Given the description of an element on the screen output the (x, y) to click on. 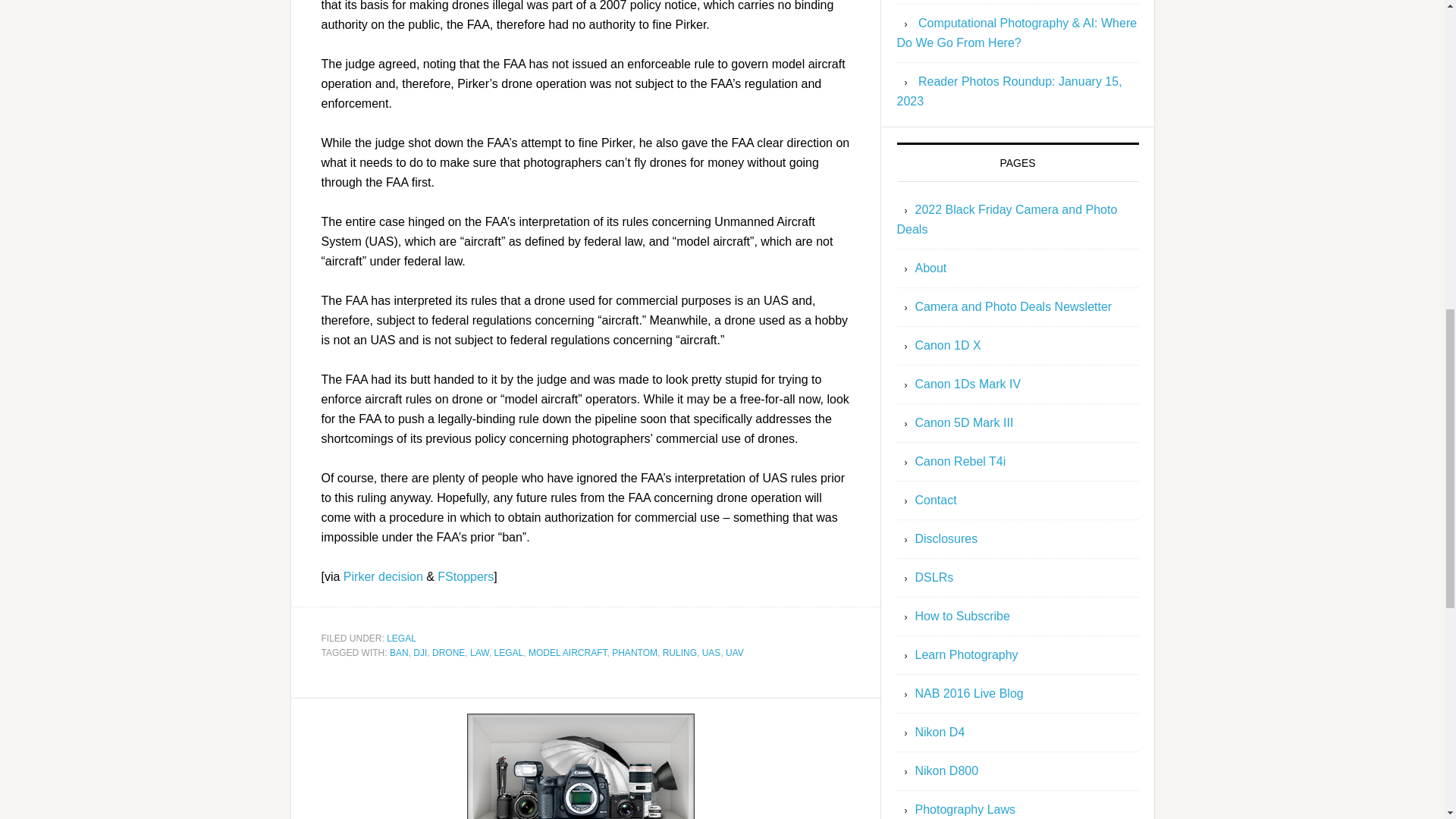
Pirker decision (383, 576)
Camera and Photo Deals Newsletter (1013, 306)
BAN (399, 652)
RULING (679, 652)
LEGAL (401, 637)
DRONE (448, 652)
About (930, 267)
PHANTOM (634, 652)
UAS (710, 652)
Reader Photos Roundup: January 15, 2023 (1008, 91)
